Given the description of an element on the screen output the (x, y) to click on. 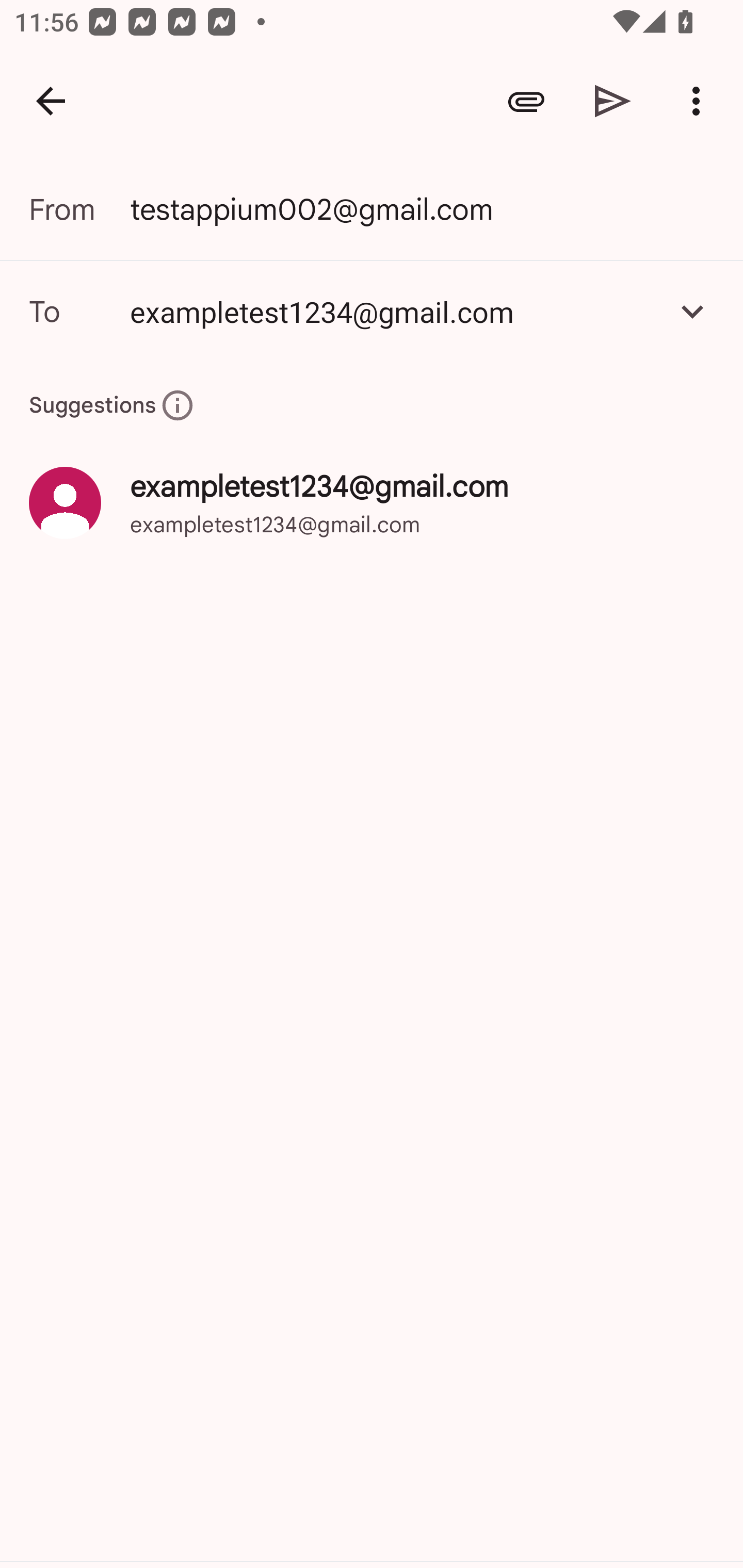
Navigate up (50, 101)
Attach file (525, 101)
Send (612, 101)
More options (699, 101)
From (79, 209)
Add Cc/Bcc (692, 311)
exampletest1234@gmail.com (371, 311)
exampletest1234@gmail.com (393, 311)
